Given the description of an element on the screen output the (x, y) to click on. 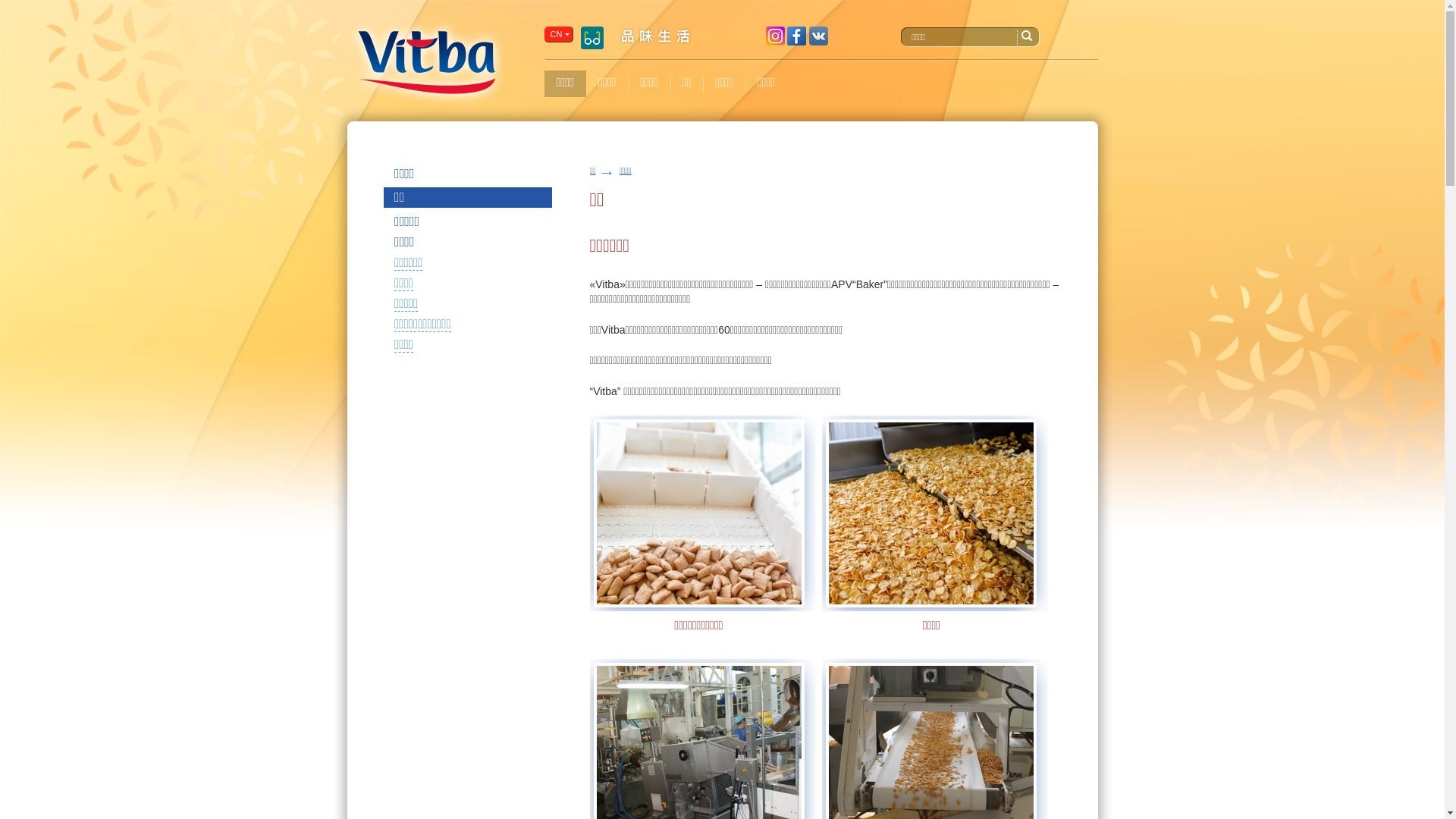
logo_glow_ENG.png Element type: hover (426, 62)
slogan.png Element type: hover (655, 35)
